Given the description of an element on the screen output the (x, y) to click on. 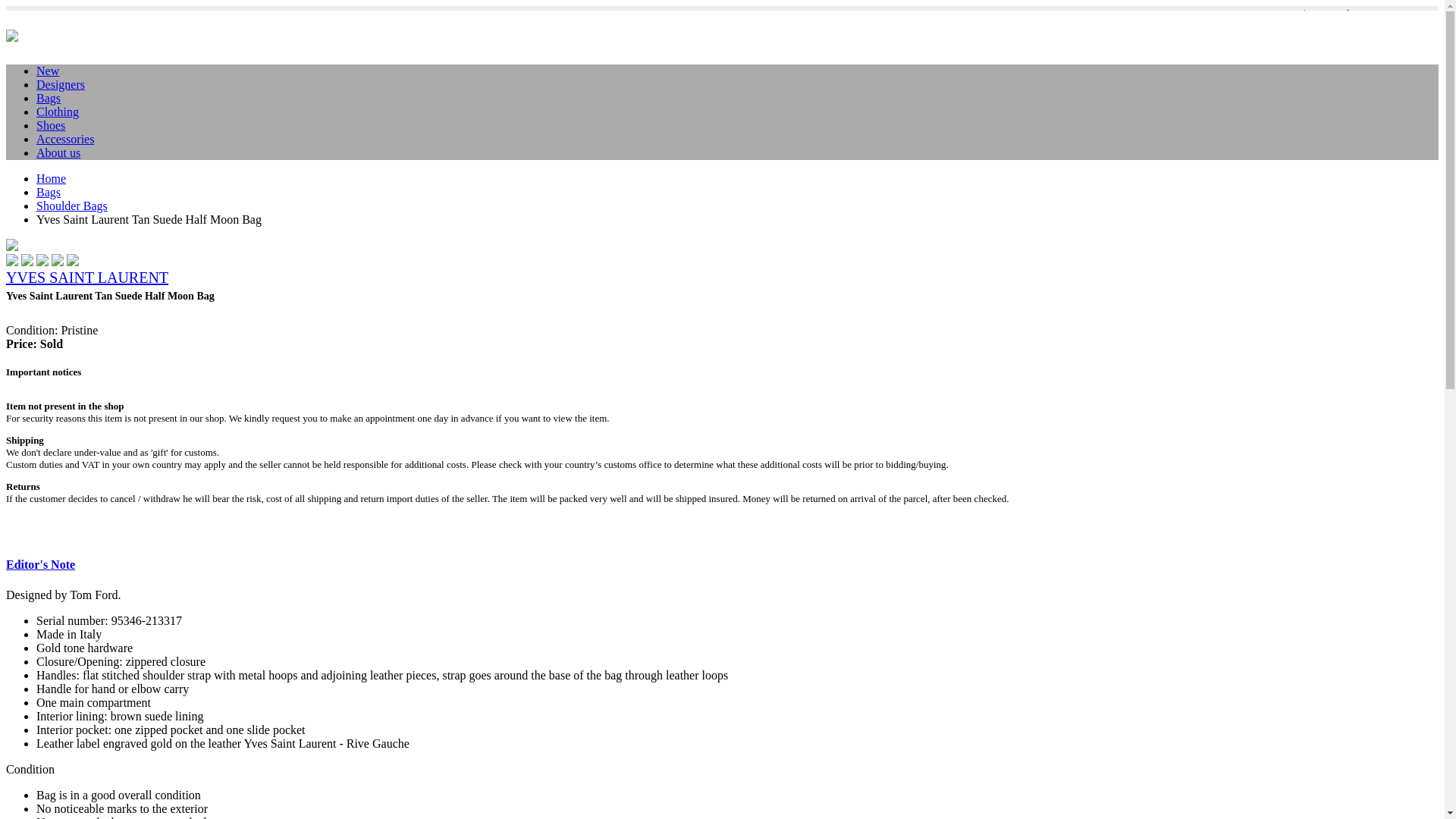
Bags (48, 97)
Bags (48, 192)
Shoulder Bags (71, 205)
NL (1292, 14)
Clothing (57, 111)
New (47, 70)
Editor's Note (40, 563)
EN (1316, 14)
YVES SAINT LAURENT (86, 277)
Pristine (79, 329)
Home (50, 178)
Shopping Bag (1374, 14)
Designers (60, 83)
Accessories (65, 138)
Shoes (50, 124)
